Given the description of an element on the screen output the (x, y) to click on. 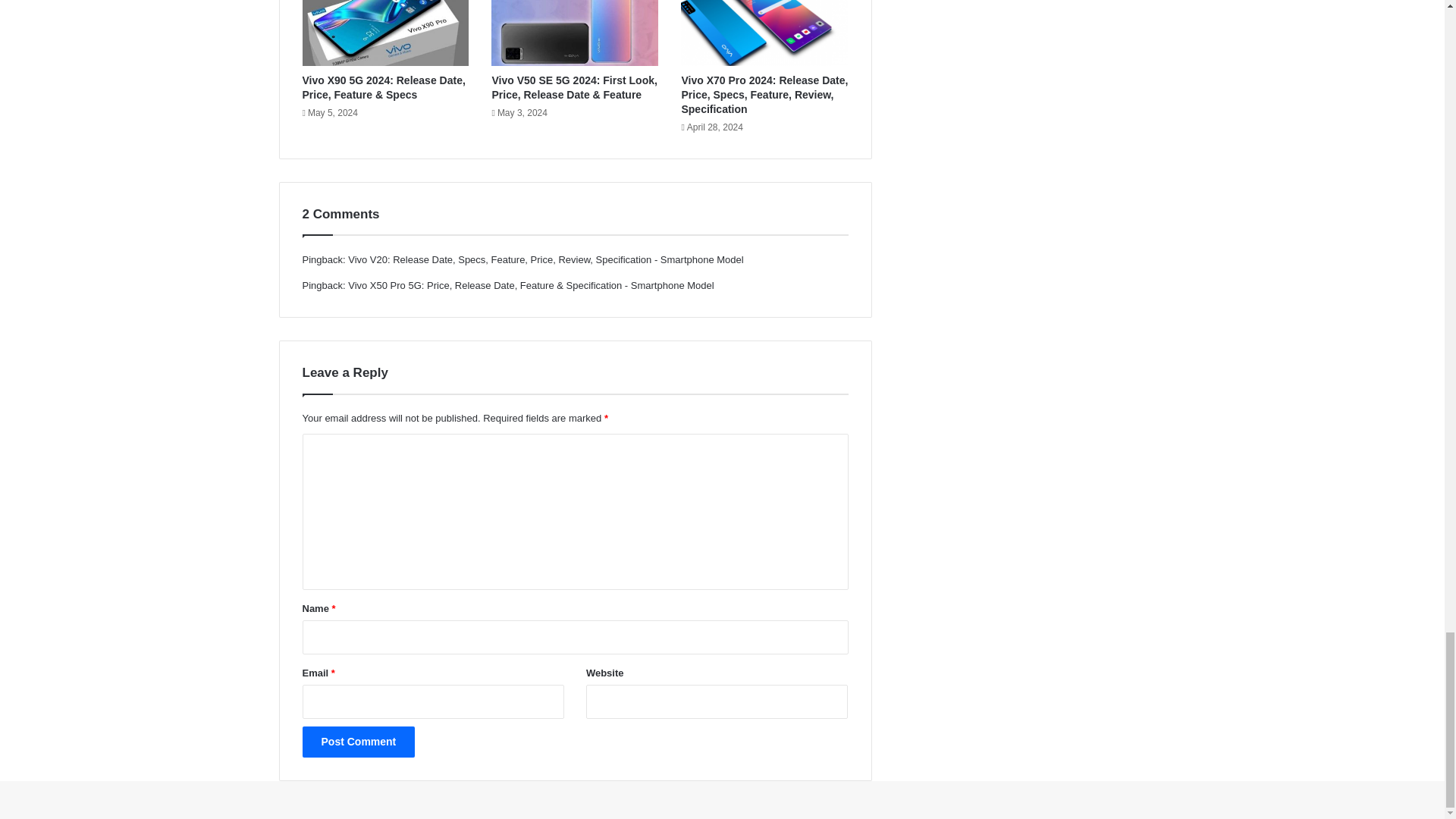
Post Comment (357, 741)
